Given the description of an element on the screen output the (x, y) to click on. 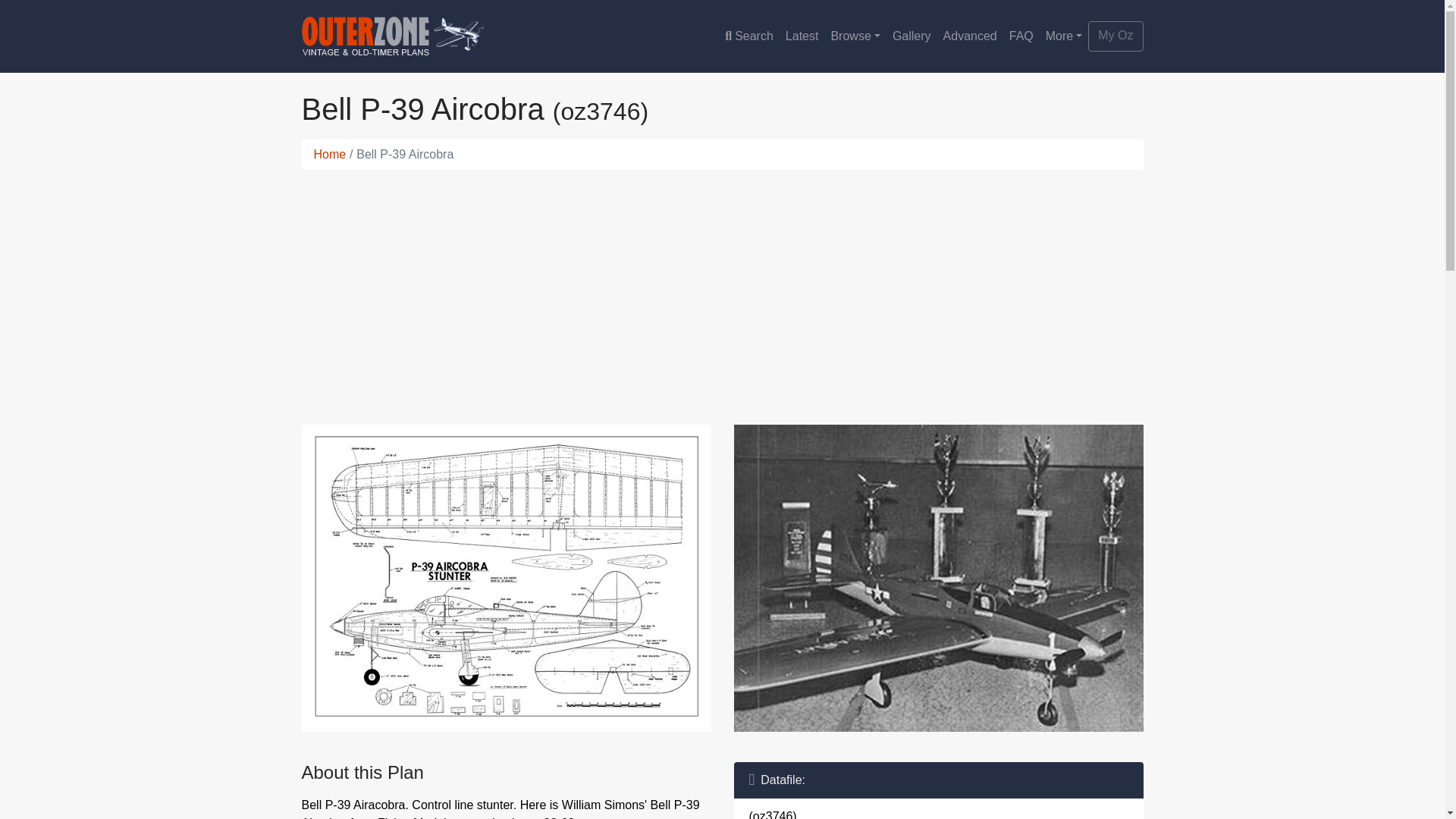
Browse (854, 36)
Home (330, 154)
Search (748, 36)
My Oz (1114, 36)
Latest (801, 36)
Gallery (911, 36)
Advanced (970, 36)
FAQ (1021, 36)
More (1064, 36)
